Given the description of an element on the screen output the (x, y) to click on. 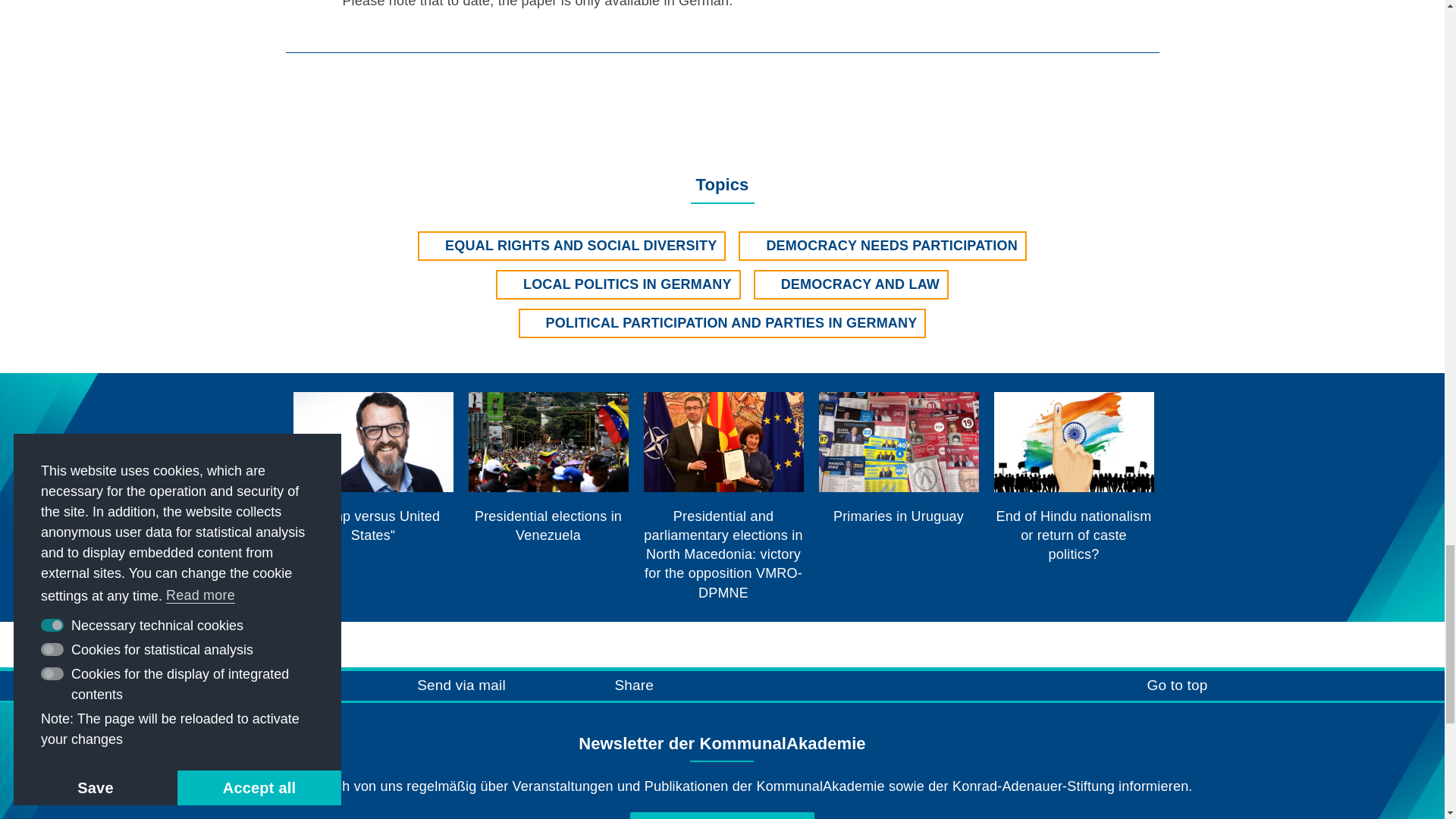
Presidential elections in Venezuela (548, 468)
